Given the description of an element on the screen output the (x, y) to click on. 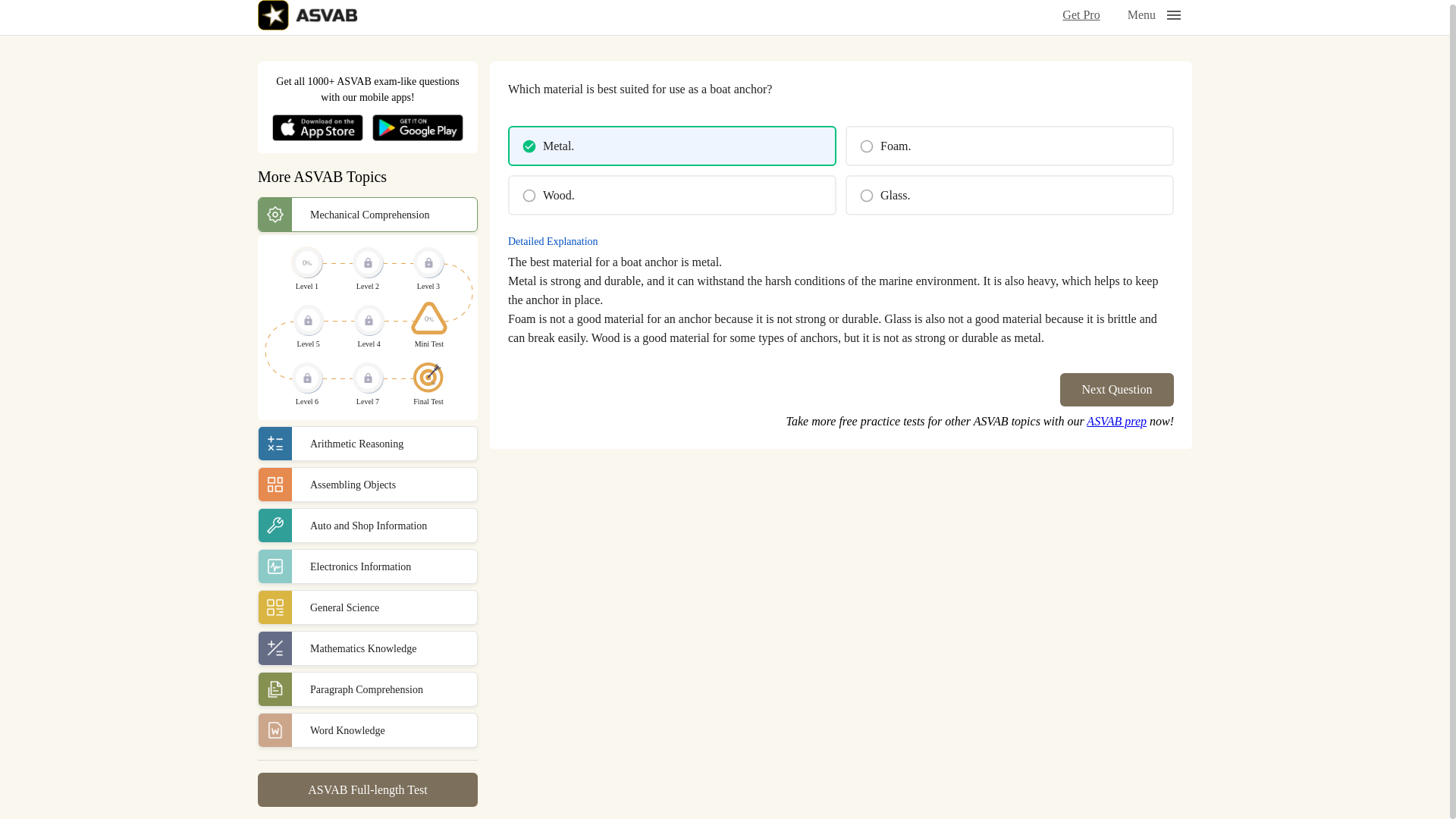
Mechanical Comprehension (367, 214)
General Science (367, 606)
ASVAB Full-length Test (367, 789)
Word Knowledge (367, 729)
Next Question (1116, 389)
Get Pro (1085, 17)
Paragraph Comprehension (367, 688)
Assembling Objects (367, 484)
ASVAB prep (1116, 420)
Arithmetic Reasoning (367, 443)
